Given the description of an element on the screen output the (x, y) to click on. 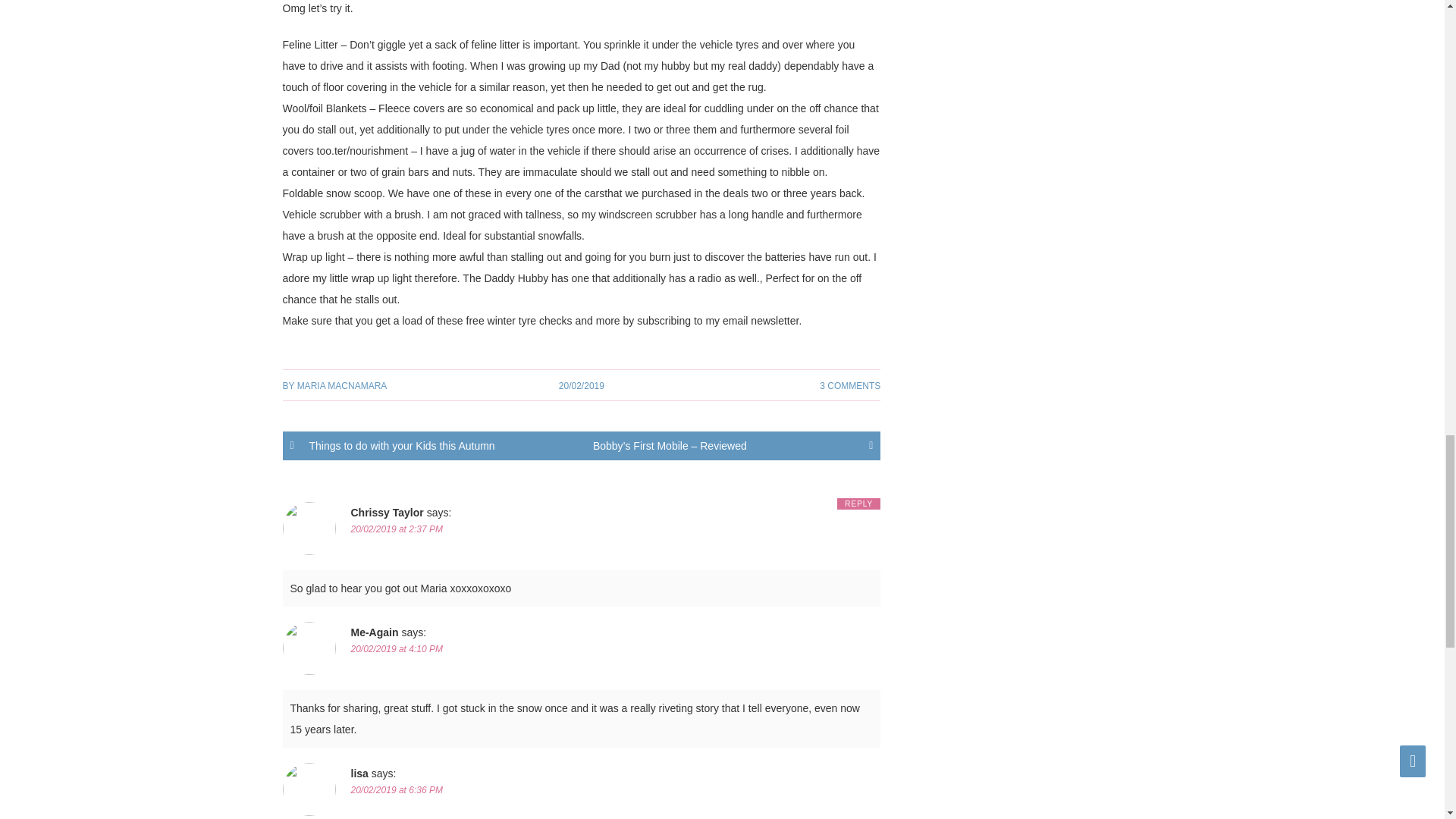
REPLY (858, 503)
Things to do with your Kids this Autumn (431, 445)
2:33 PM (581, 385)
3 COMMENTS (849, 385)
for substantial snowfalls (524, 235)
MARIA MACNAMARA (342, 385)
